Given the description of an element on the screen output the (x, y) to click on. 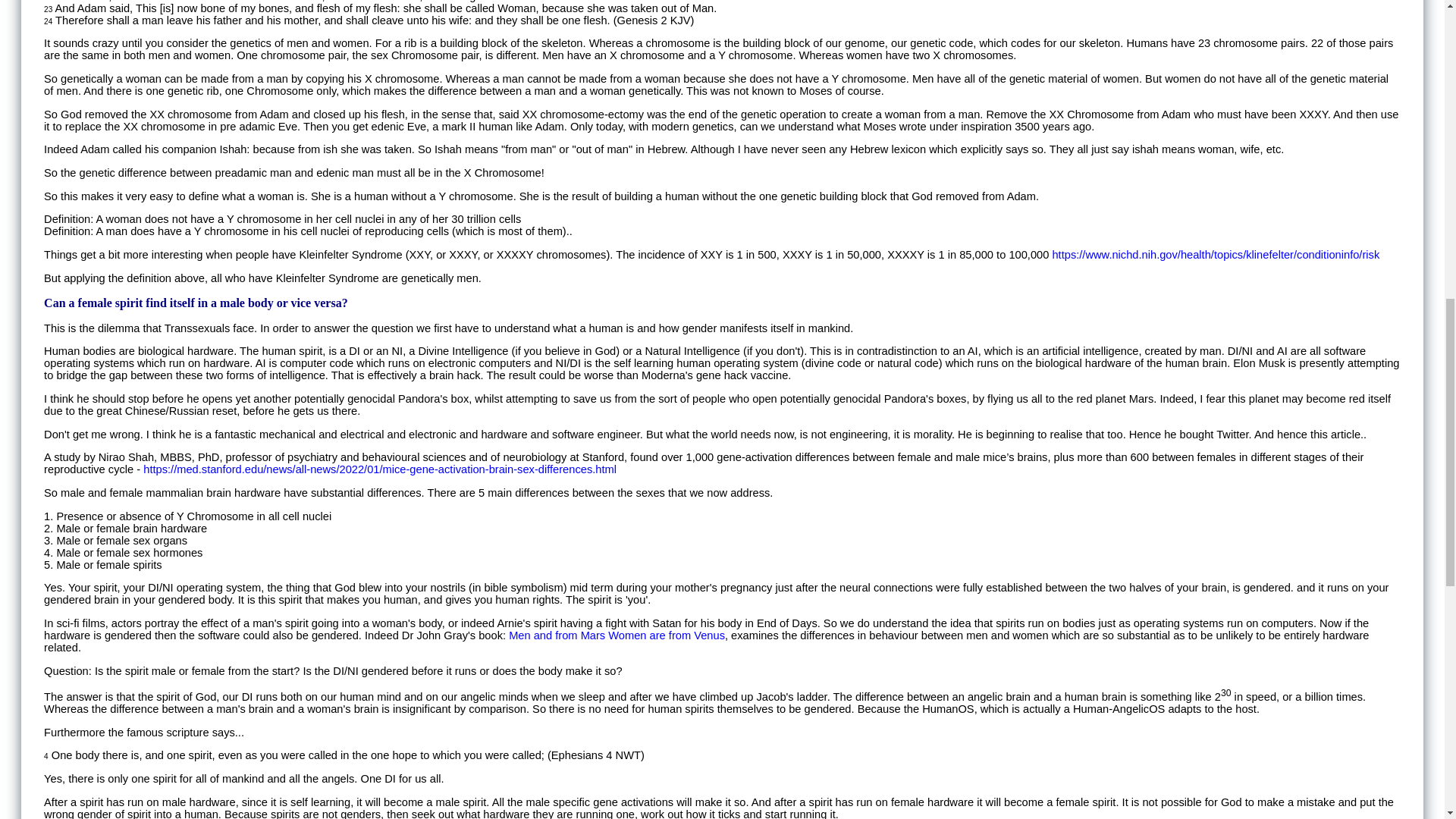
Men and from Mars Women are from Venus (616, 635)
